Given the description of an element on the screen output the (x, y) to click on. 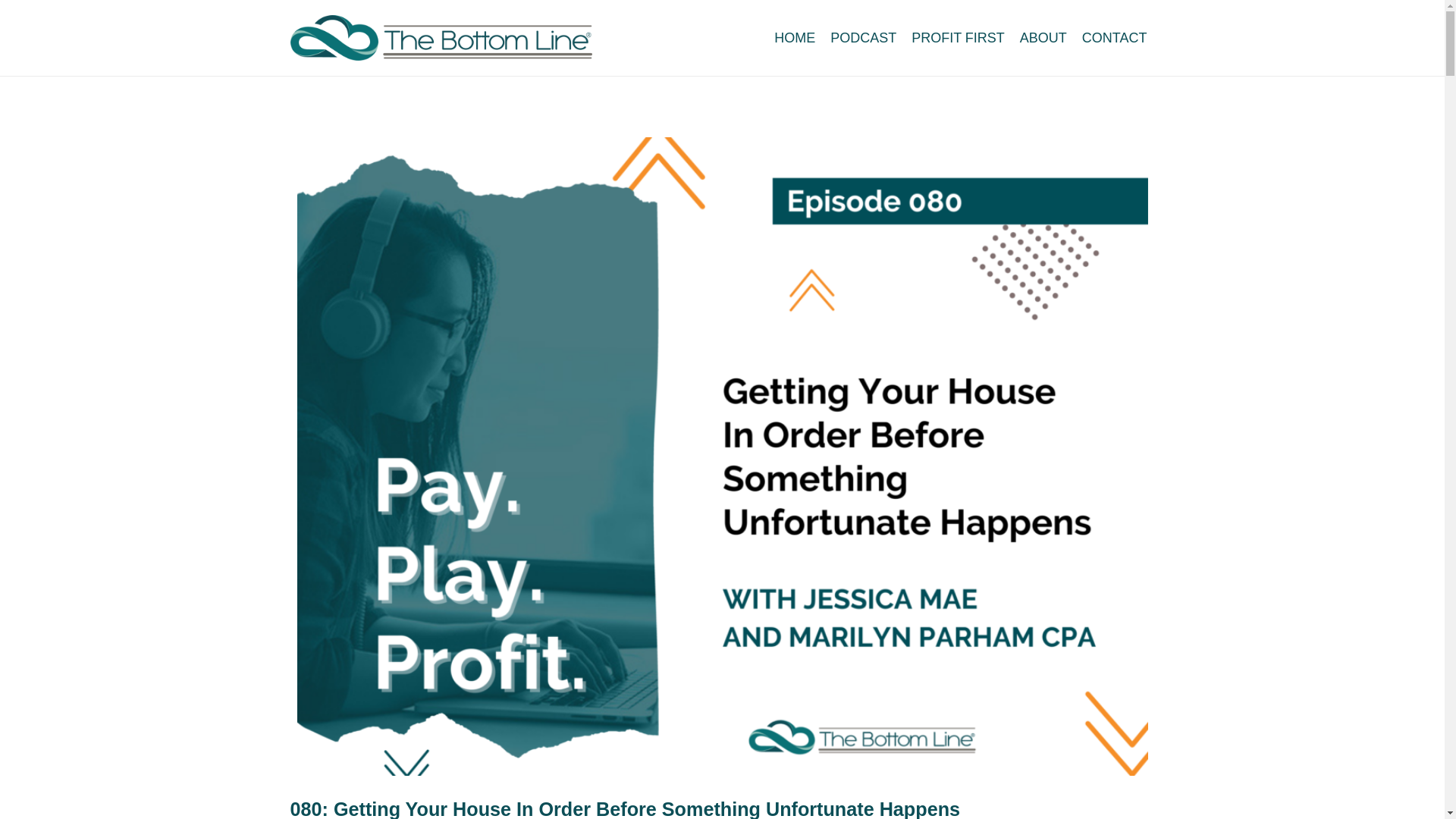
CONTACT (1114, 37)
PODCAST (863, 37)
HOME (794, 37)
PROFIT FIRST (957, 37)
ABOUT (1042, 37)
